Given the description of an element on the screen output the (x, y) to click on. 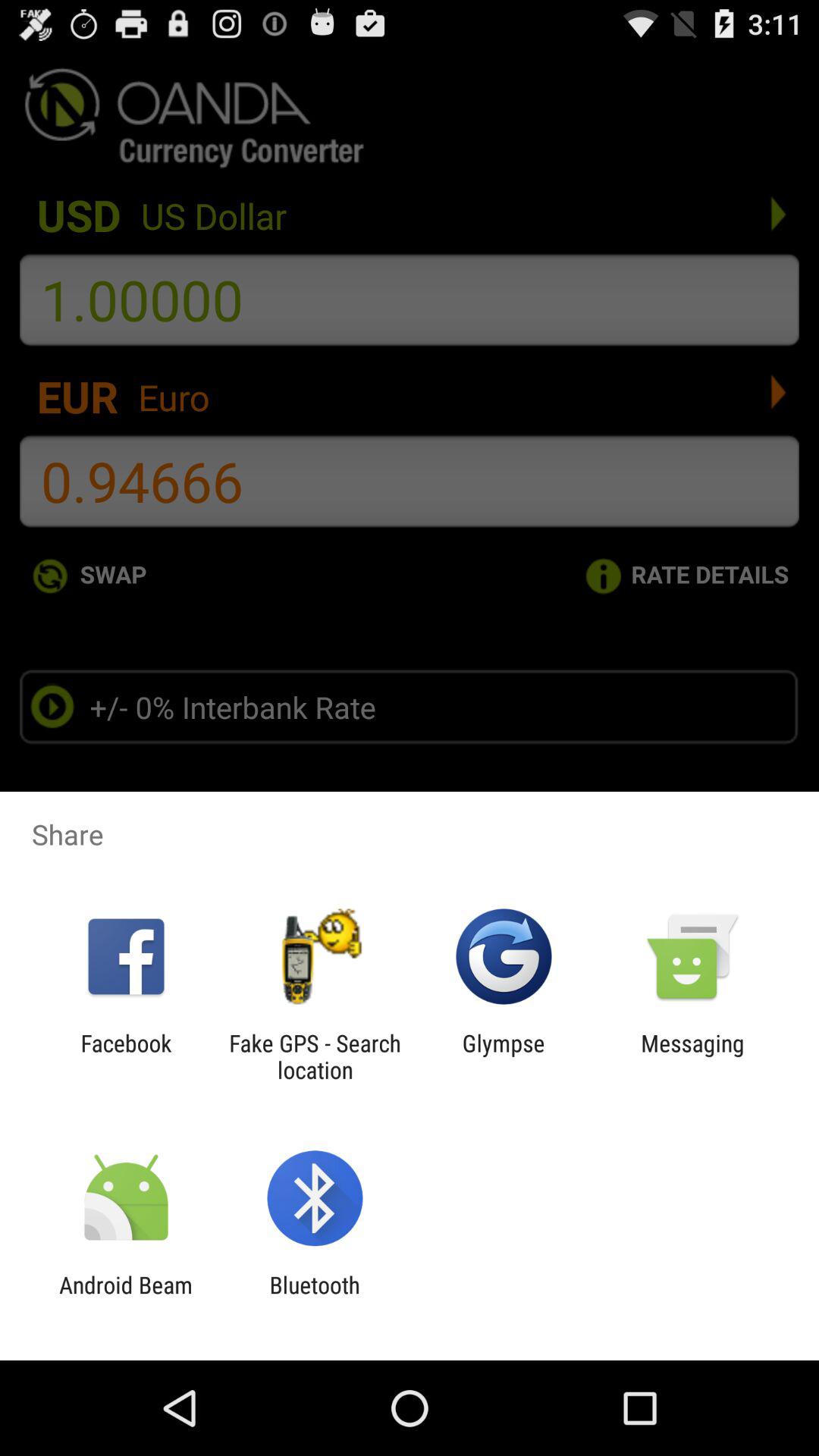
turn on the app to the right of android beam app (314, 1298)
